Given the description of an element on the screen output the (x, y) to click on. 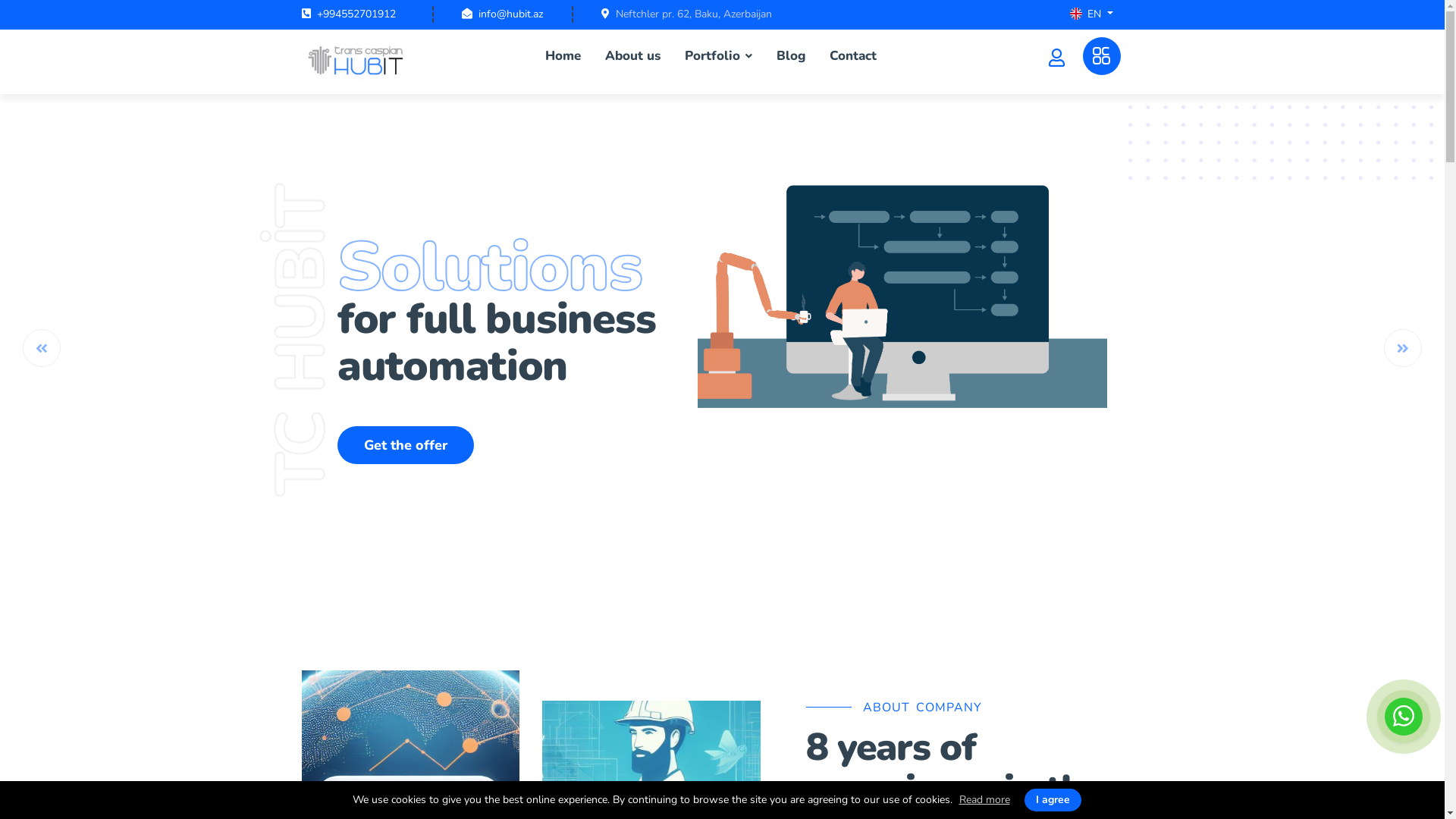
Blog Element type: text (790, 55)
I agree Element type: text (1051, 799)
EN Element type: text (1091, 14)
Trans Caspian Hubit Element type: hover (358, 61)
Portfolio Element type: text (718, 55)
About us Element type: text (632, 55)
Get the offer Element type: text (405, 445)
+994552701912 Element type: text (355, 13)
info@hubit.az Element type: text (509, 13)
Read more Element type: text (983, 799)
Contact Element type: text (852, 55)
Home Element type: text (563, 55)
